Given the description of an element on the screen output the (x, y) to click on. 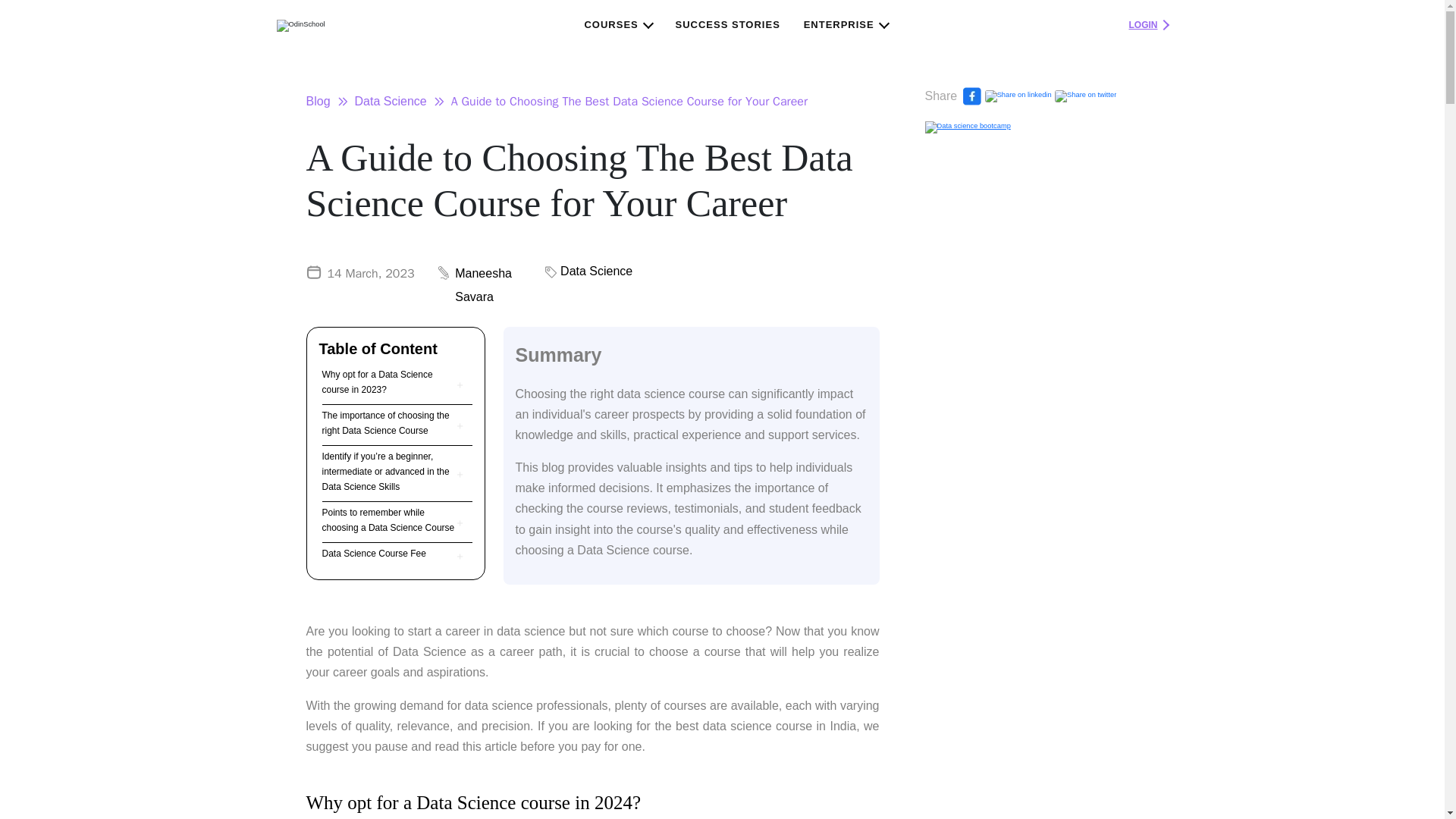
The importance of choosing the right Data Science Course (389, 422)
Data Science Course Fee (373, 553)
Why opt for a Data Science course in 2023? (389, 382)
COURSES (617, 24)
Points to remember while choosing a Data Science Course (389, 520)
